Given the description of an element on the screen output the (x, y) to click on. 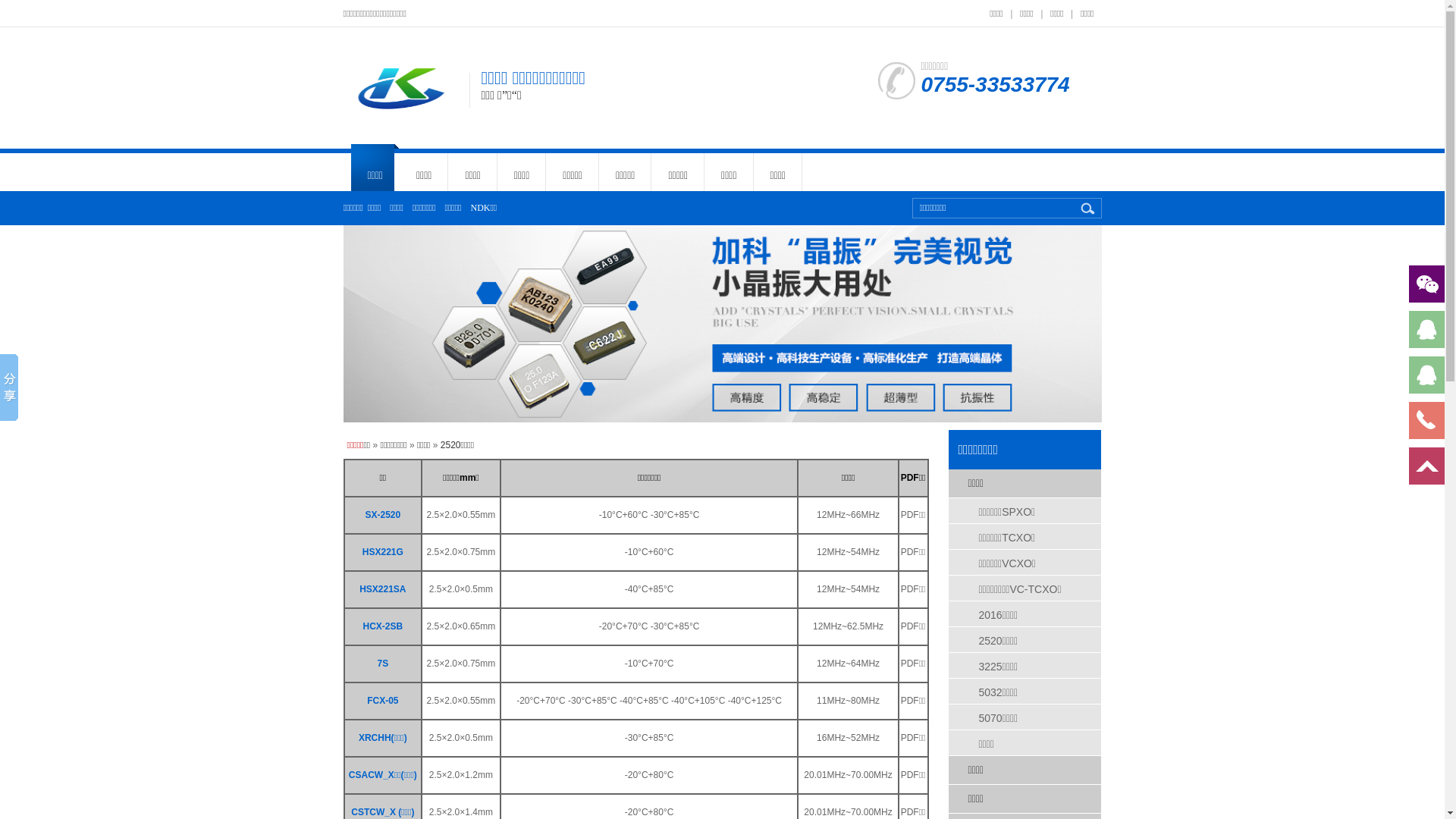
FCX-05 Element type: text (382, 700)
HCX-2SB Element type: text (382, 626)
HSX221G Element type: text (382, 551)
SX-2520 Element type: text (382, 514)
HSX221SA Element type: text (382, 588)
7S Element type: text (382, 663)
